Given the description of an element on the screen output the (x, y) to click on. 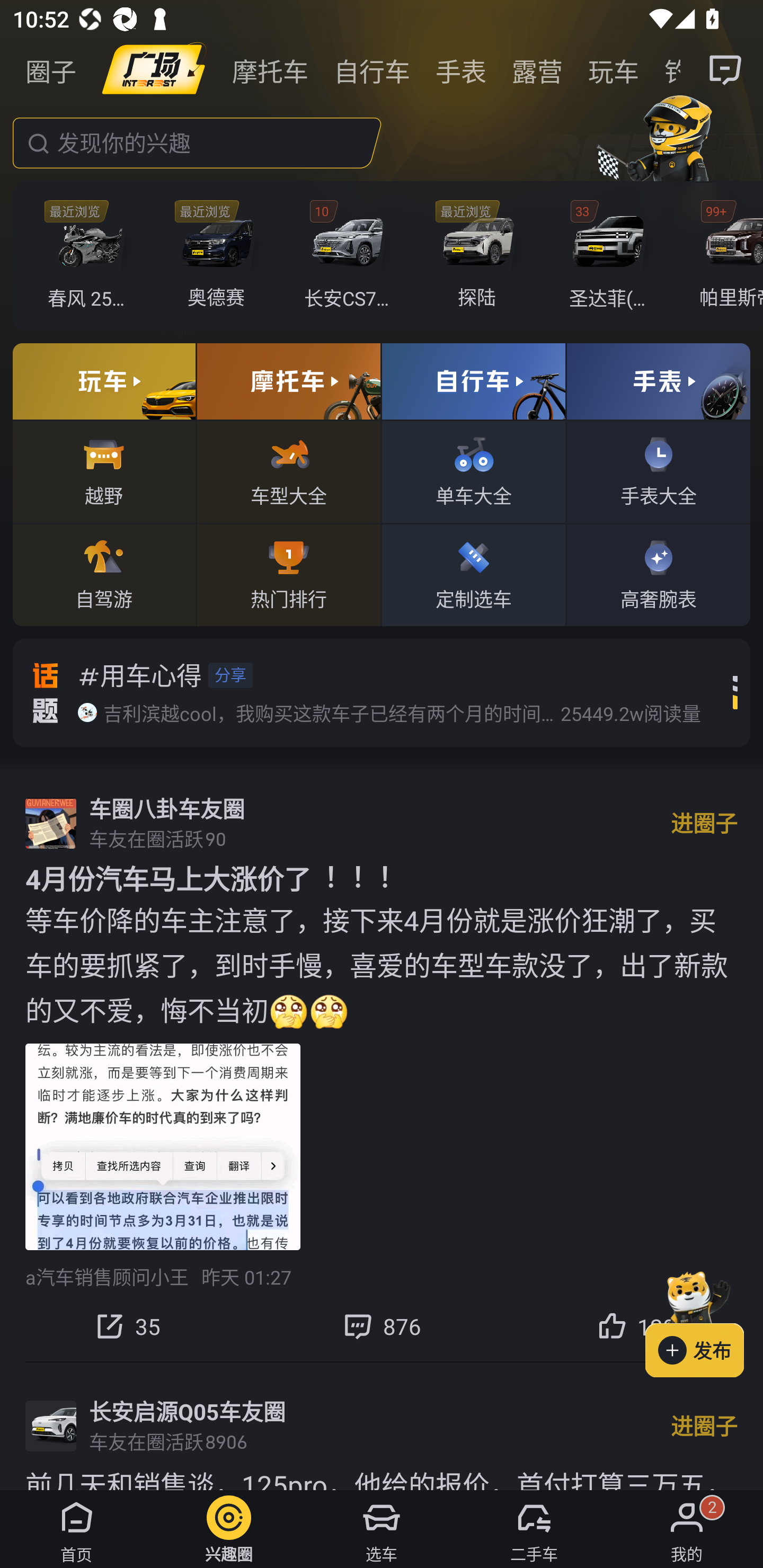
圈子 (50, 69)
image (153, 69)
摩托车 (269, 69)
自行车 (372, 69)
手表 (460, 69)
露营 (537, 69)
玩车 (613, 69)
 (726, 69)
春风 250SR (90, 256)
奥德赛 (220, 256)
10 长安CS75 PLUS (351, 256)
探陆 (481, 256)
33 圣达菲(进口) (611, 256)
99+ 帕里斯帝 (726, 256)
越野 (103, 471)
车型大全 (288, 471)
单车大全 (473, 471)
手表大全 (658, 471)
自驾游 (103, 574)
热门排行 (288, 574)
定制选车 (473, 574)
高奢腕表 (658, 574)
车圈八卦车友圈 车友在圈活跃 90 进圈子 (381, 822)
发布 (704, 1320)
 35 (127, 1326)
 876 (381, 1326)
长安启源Q05车友圈 车友在圈活跃 8906 进圈子 (381, 1425)
 首页 (76, 1528)
兴趣圈 (228, 1528)
 选车 (381, 1528)
 二手车 (533, 1528)
 我的 (686, 1528)
